Given the description of an element on the screen output the (x, y) to click on. 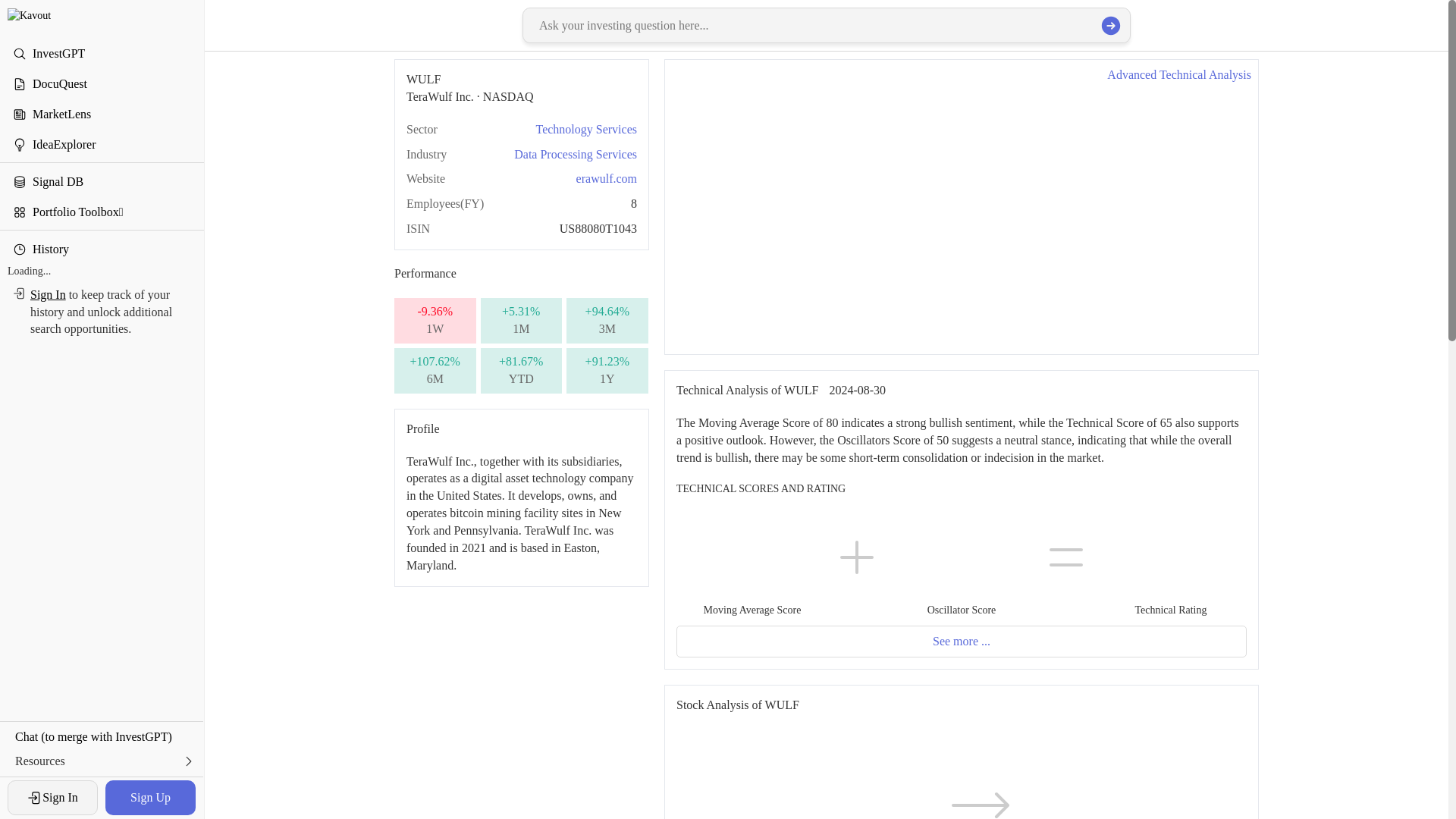
Advanced Technical Analysis (1178, 75)
Sign In (52, 797)
Technology Services (586, 128)
Signal DB (101, 181)
Data Processing Services (575, 154)
Sign In (47, 294)
erawulf.com (606, 178)
Sign Up (149, 797)
IdeaExplorer (101, 143)
History (101, 248)
